Given the description of an element on the screen output the (x, y) to click on. 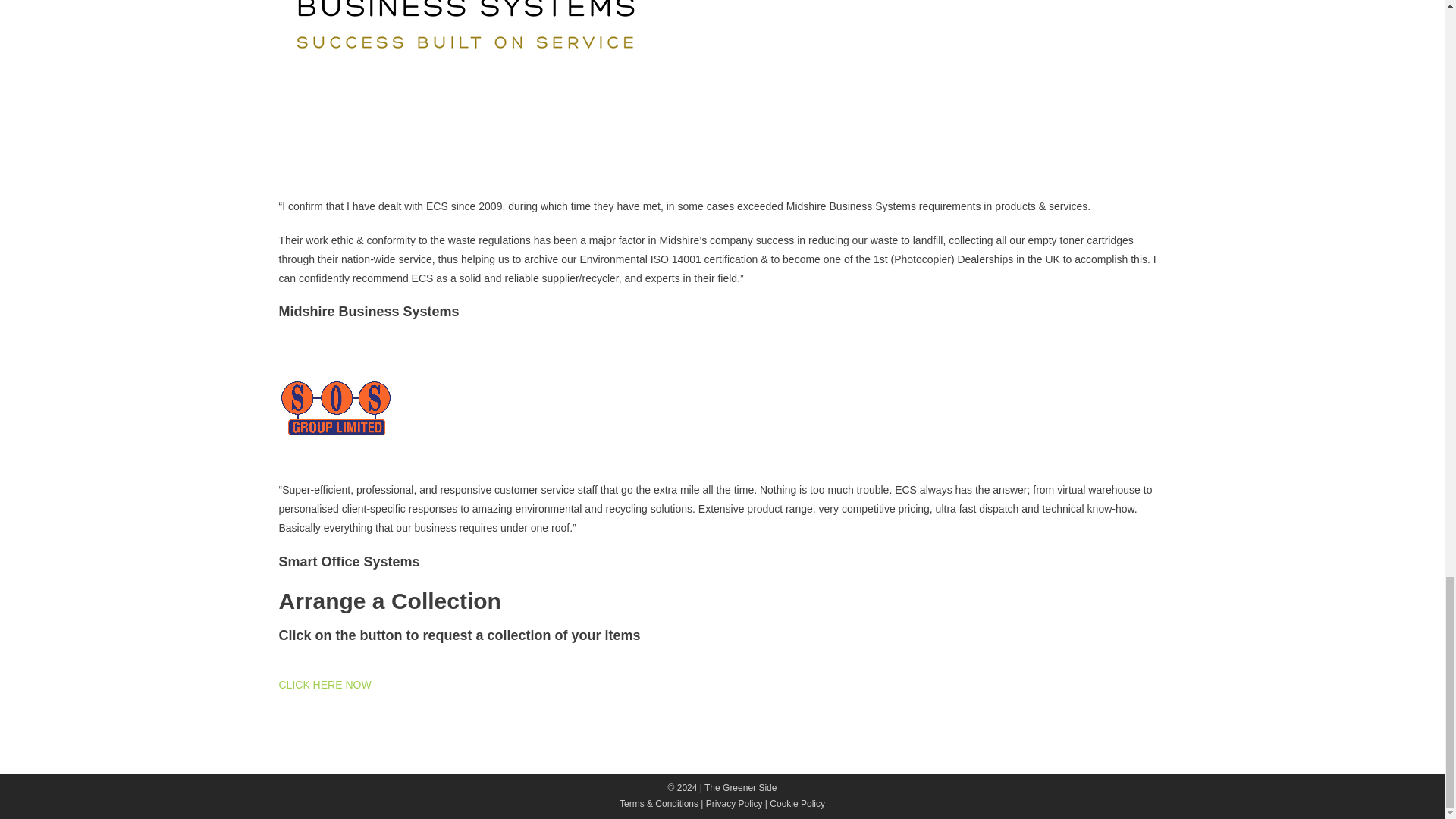
Privacy Policy (734, 803)
CLICK HERE NOW (325, 694)
Cookie Policy (797, 803)
